Given the description of an element on the screen output the (x, y) to click on. 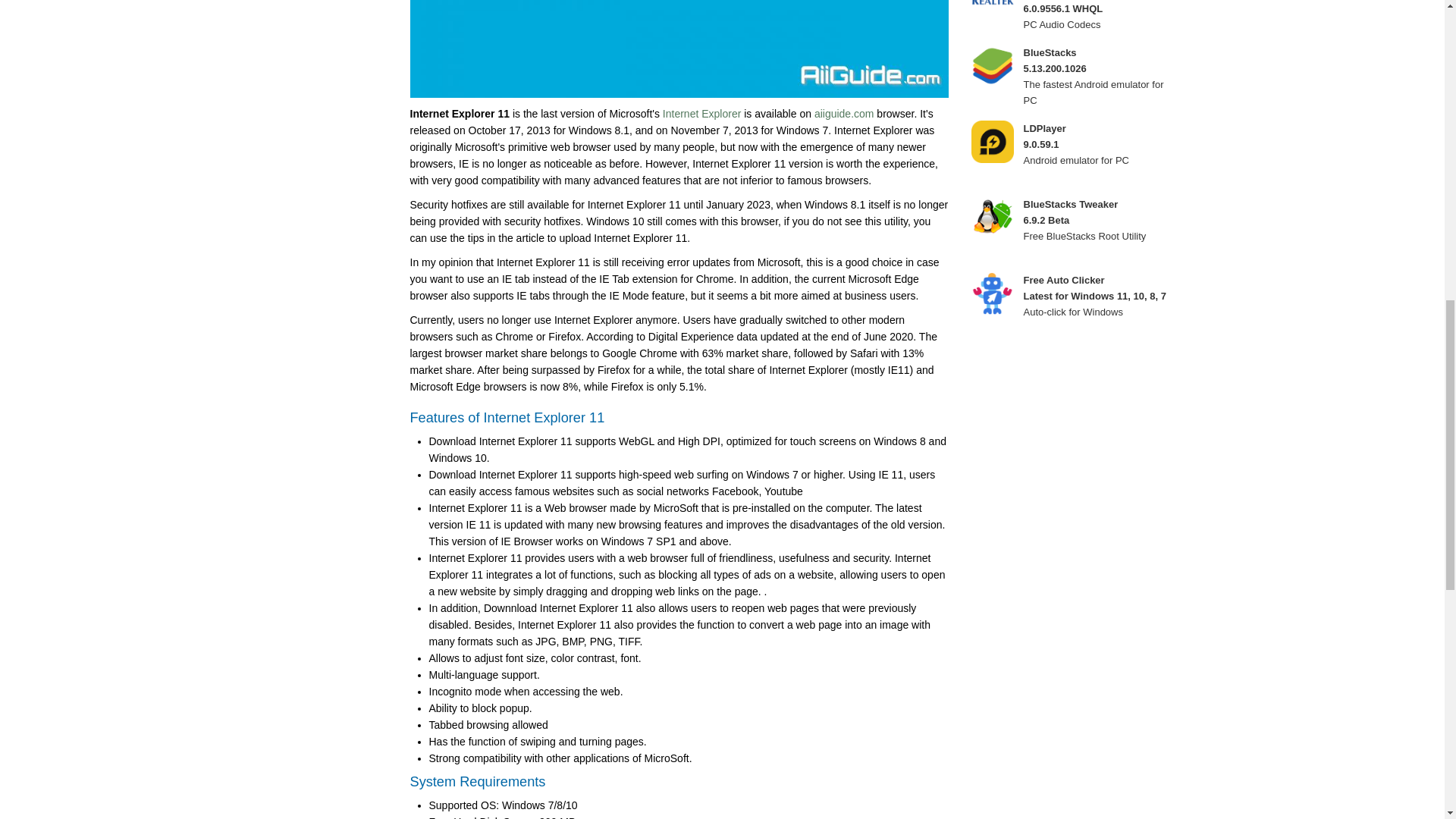
Internet Explorer (701, 113)
View image Internet Explorer (678, 48)
aiiguide.com (844, 113)
